Given the description of an element on the screen output the (x, y) to click on. 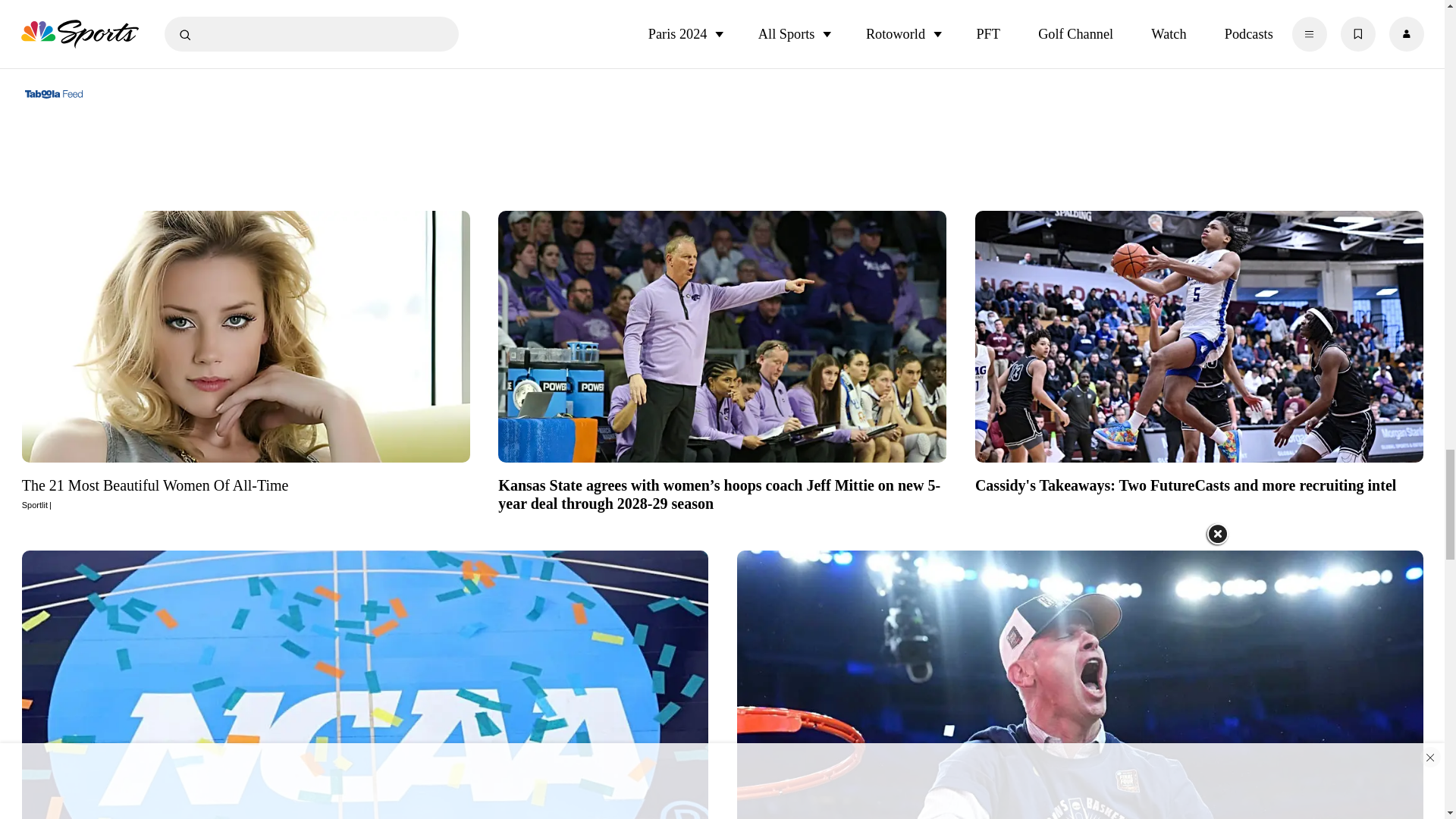
The 21 Most Beautiful Women Of All-Time (245, 335)
The 21 Most Beautiful Women Of All-Time (245, 492)
